Given the description of an element on the screen output the (x, y) to click on. 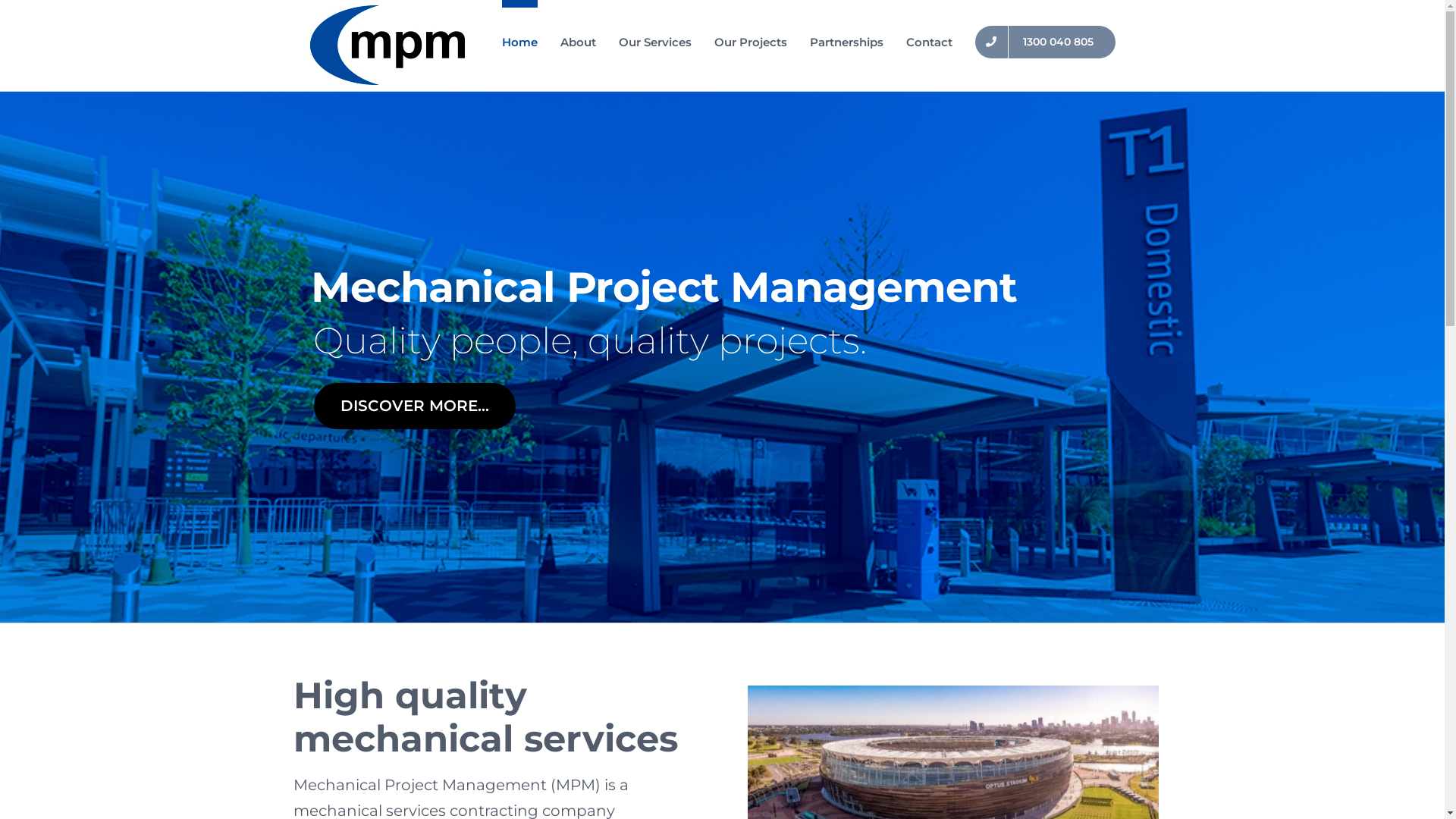
1300 040 805 Element type: text (1045, 37)
Our Projects Element type: text (750, 37)
Contact Element type: text (929, 37)
Our Services Element type: text (654, 37)
Partnerships Element type: text (846, 37)
About Element type: text (578, 37)
Home Element type: text (519, 37)
